Given the description of an element on the screen output the (x, y) to click on. 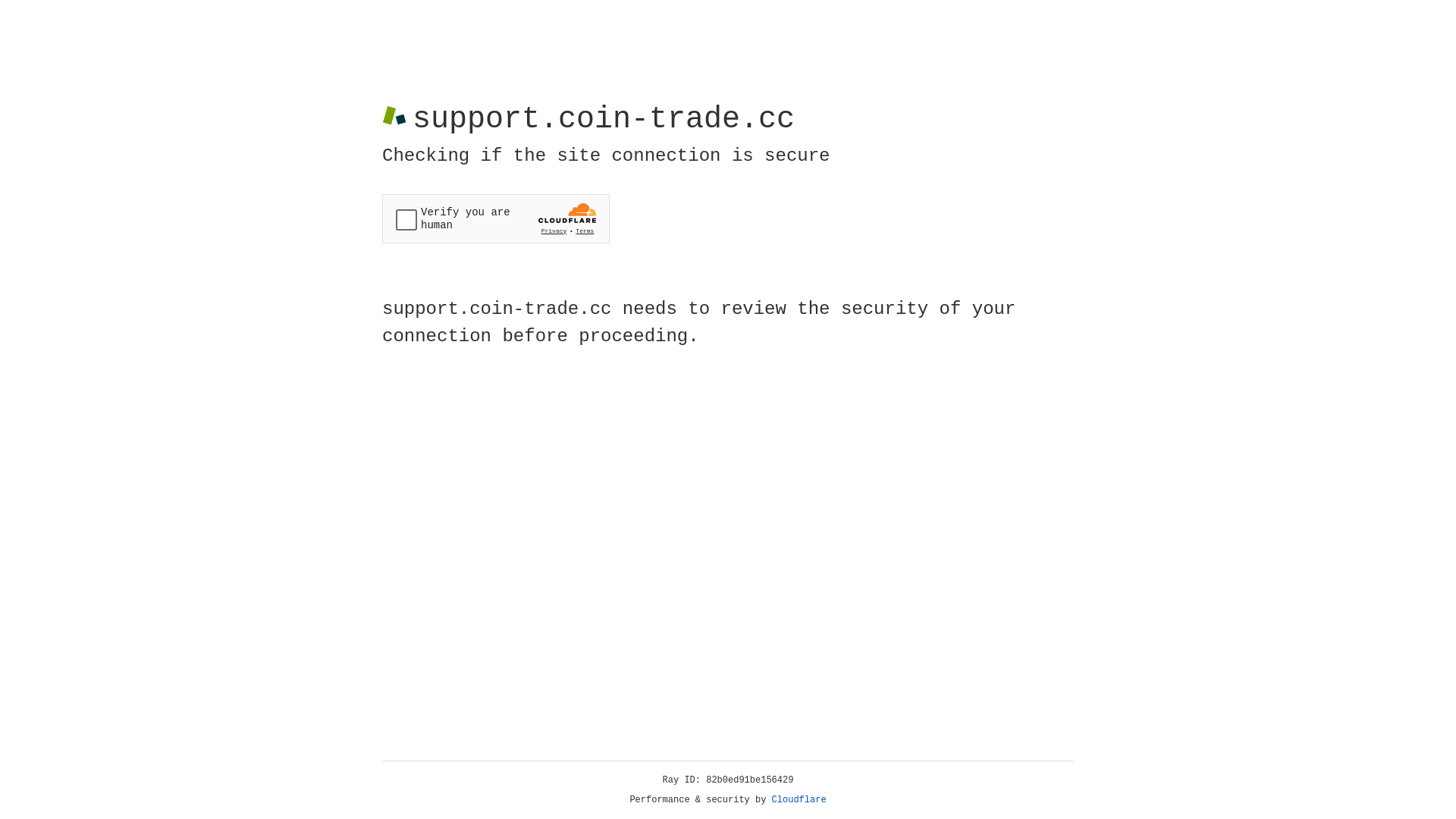
Widget containing a Cloudflare security challenge Element type: hover (495, 218)
Cloudflare Element type: text (798, 799)
